Given the description of an element on the screen output the (x, y) to click on. 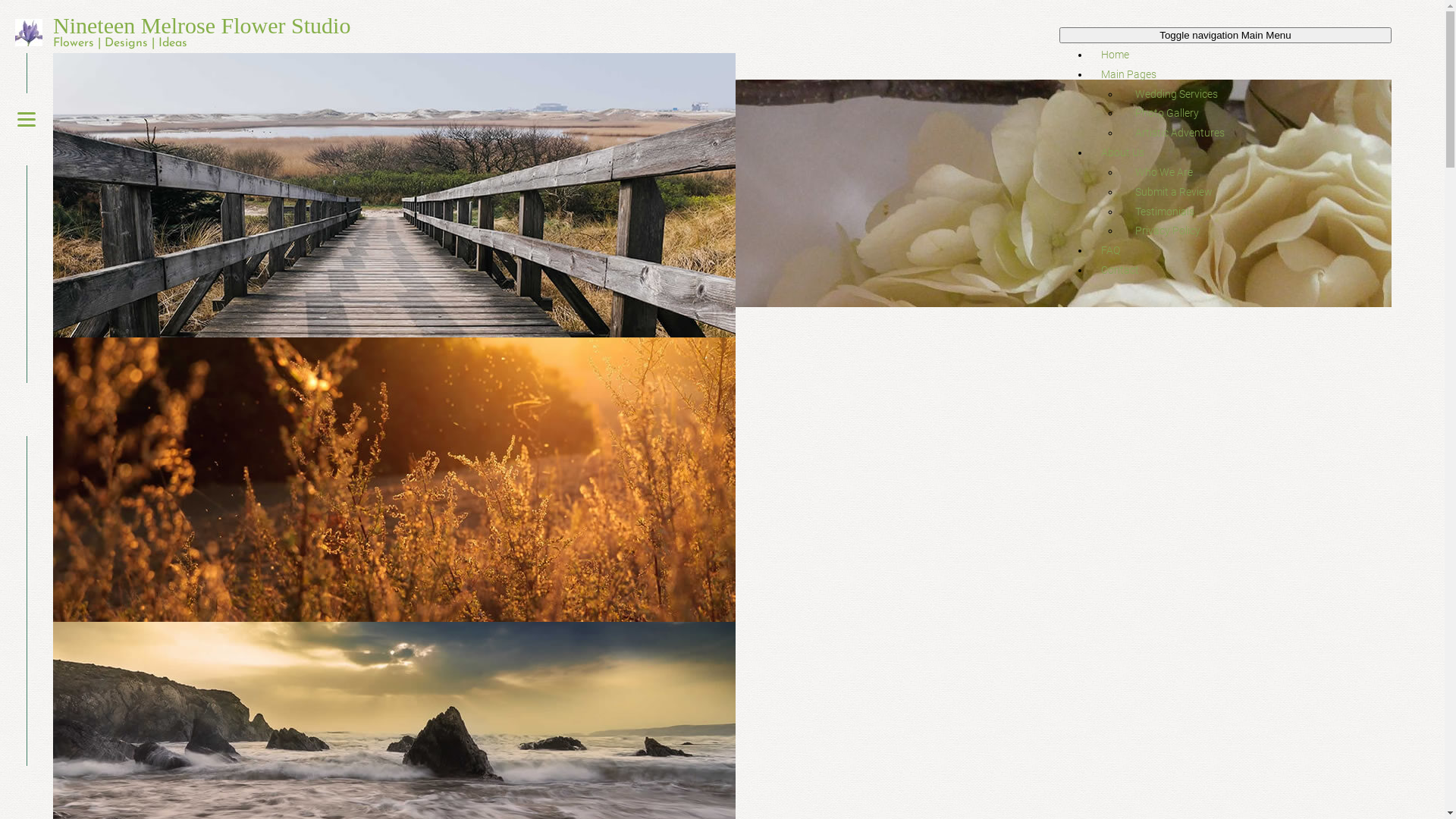
#image1 Element type: hover (394, 195)
Main Pages Element type: text (1128, 74)
Photo Gallery Element type: text (1167, 112)
Submit a Review Element type: text (1173, 191)
Contact Element type: text (1119, 269)
#image2 Element type: hover (394, 479)
About Us Element type: text (1122, 152)
Nineteen Melrose Flower Studio Element type: text (201, 24)
Who We Are Element type: text (1164, 171)
FAQ Element type: text (1110, 250)
Artistic Adventures Element type: text (1179, 132)
Home Element type: text (1114, 54)
Toggle navigation Main Menu Element type: text (1225, 35)
Privacy Policy Element type: text (1167, 230)
Testimonials Element type: text (1164, 211)
Wedding Services Element type: text (1176, 93)
